Given the description of an element on the screen output the (x, y) to click on. 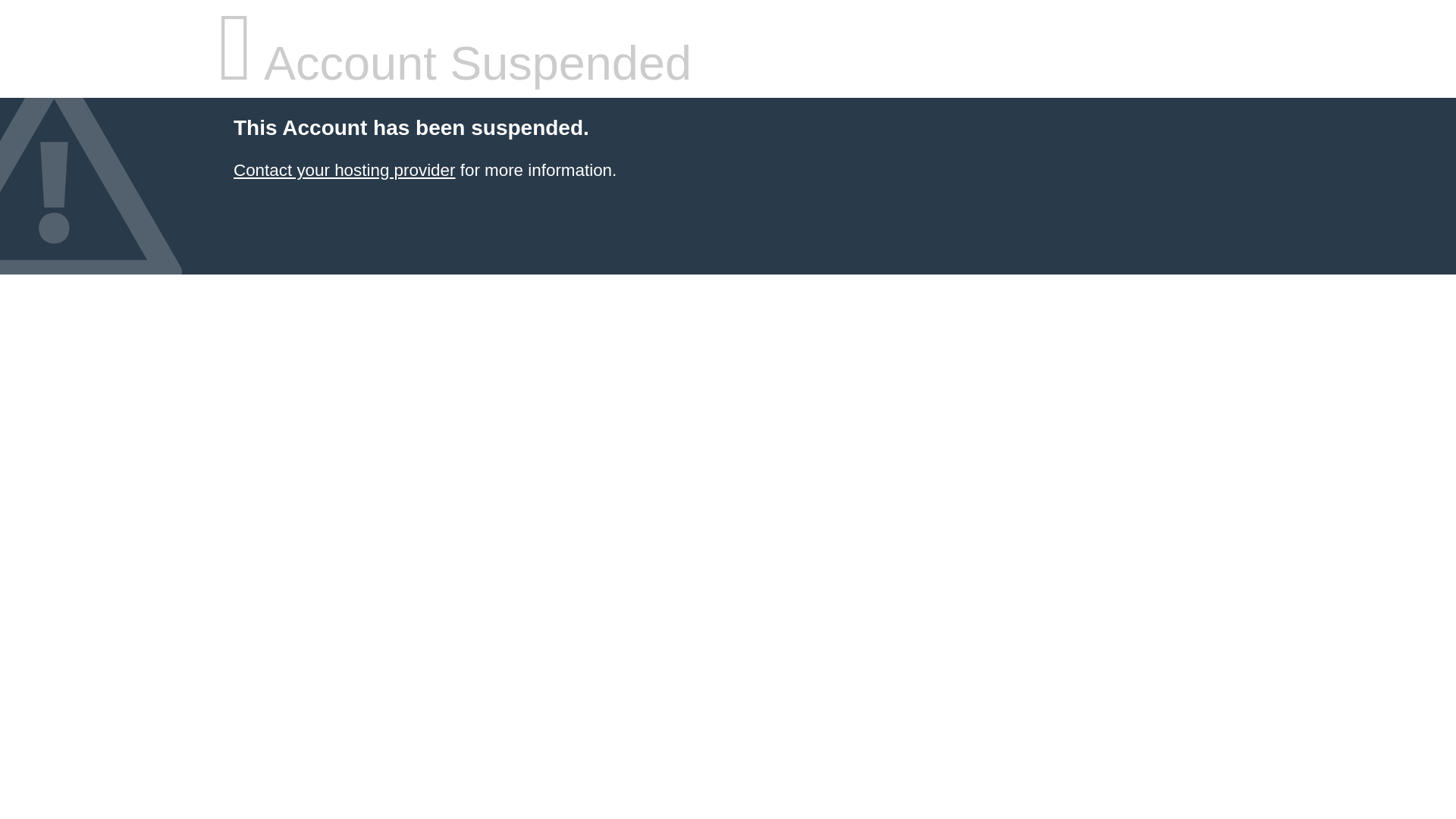
Contact your hosting provider (343, 169)
